Given the description of an element on the screen output the (x, y) to click on. 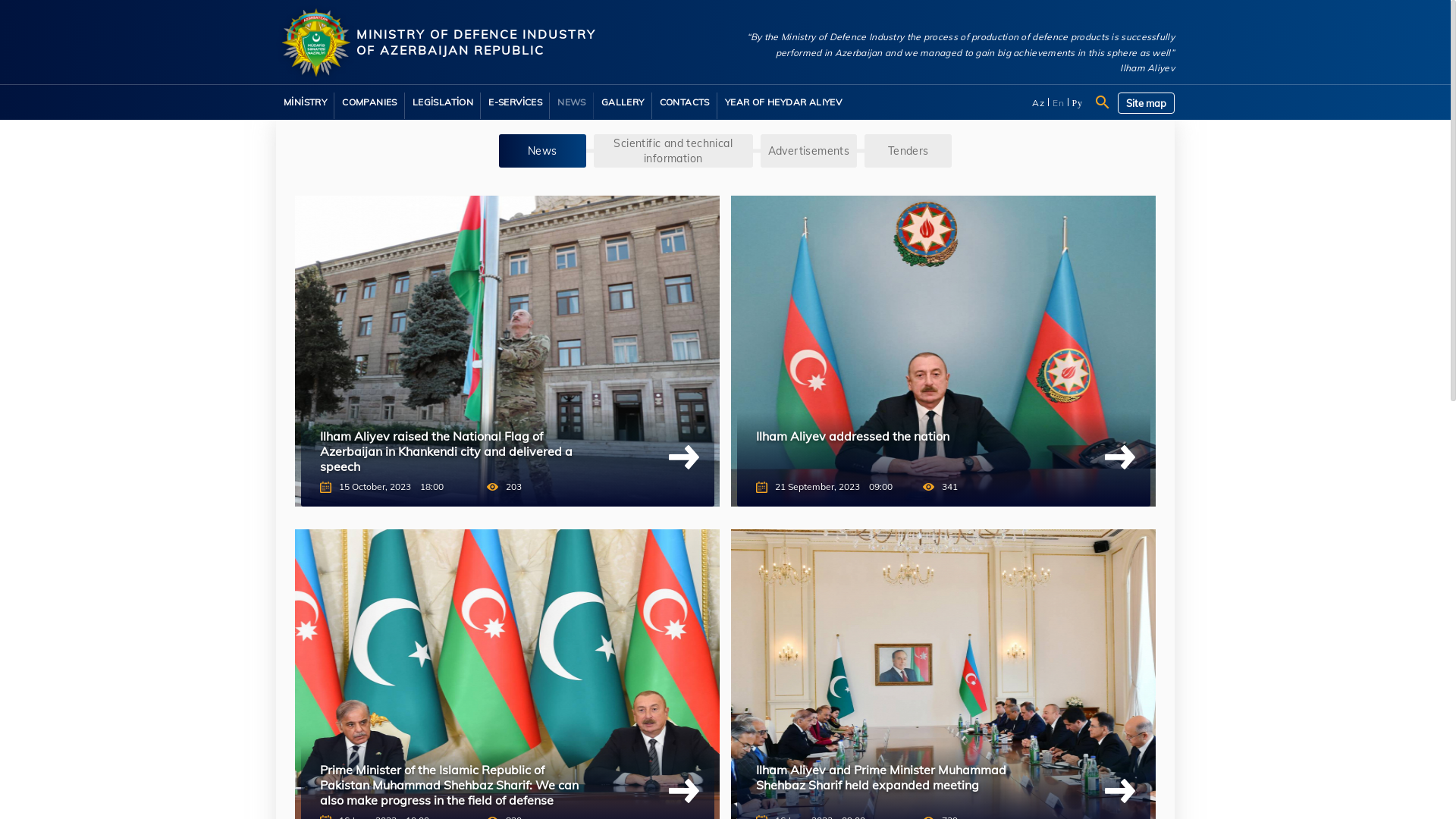
Tenders Element type: text (908, 150)
COMPANIES Element type: text (369, 101)
CONTACTS Element type: text (684, 101)
GALLERY Element type: text (622, 101)
MINISTRY OF DEFENCE INDUSTRY
OF AZERBAIJAN REPUBLIC Element type: text (497, 43)
YEAR OF HEYDAR ALIYEV Element type: text (783, 101)
Az Element type: text (1038, 102)
NEWS Element type: text (571, 101)
Site map Element type: text (1145, 102)
En Element type: text (1058, 102)
Scientific and technical information Element type: text (673, 150)
News Element type: text (542, 150)
Advertisements Element type: text (809, 150)
Ilham Aliyev addressed the nation Element type: text (891, 450)
